Given the description of an element on the screen output the (x, y) to click on. 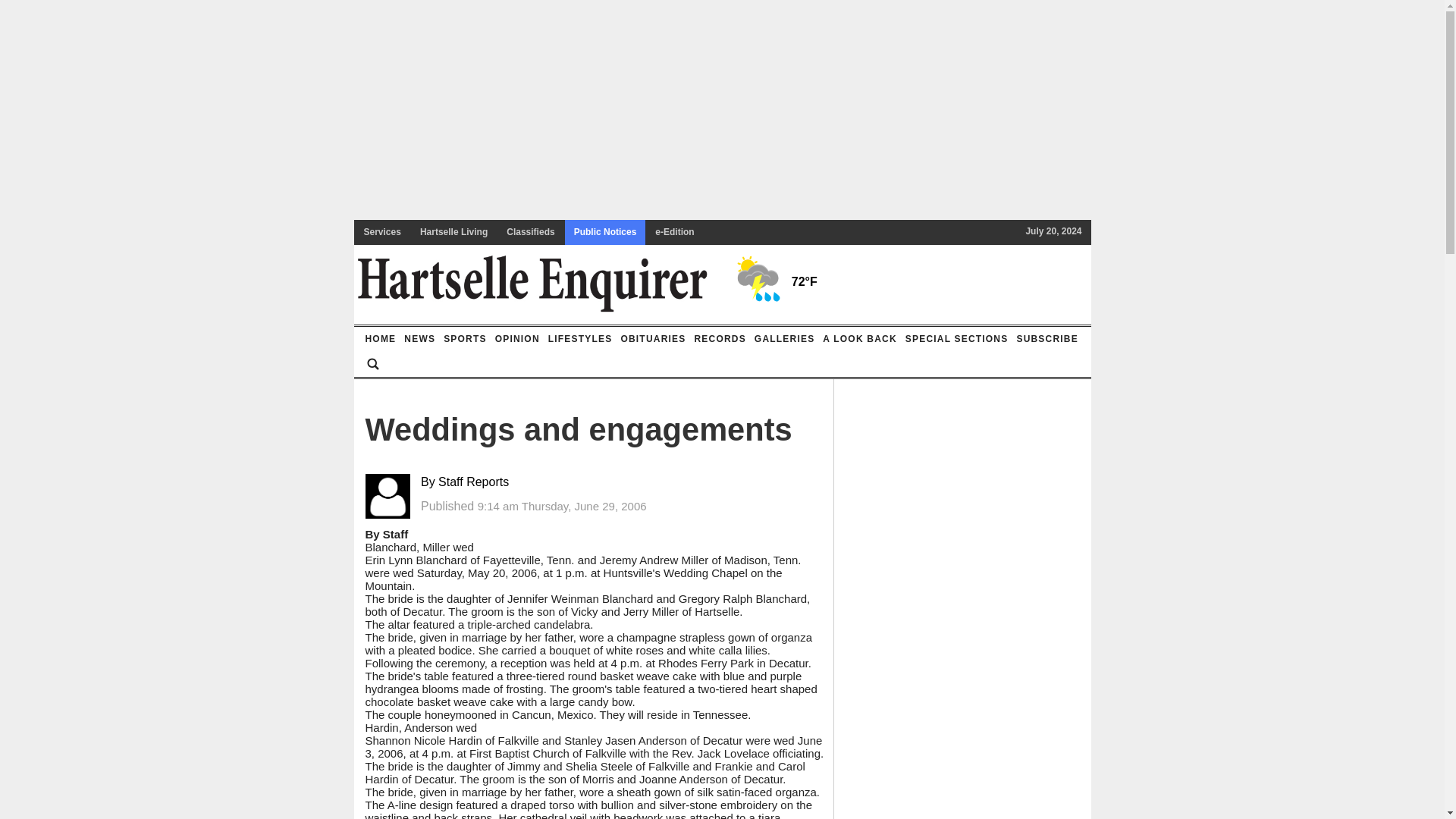
Classifieds (530, 232)
Hartselle Living (453, 232)
Services (382, 232)
e-Edition (674, 232)
3rd party ad content (976, 488)
Public Notices (605, 232)
3rd party ad content (976, 678)
3rd party ad content (721, 170)
